Given the description of an element on the screen output the (x, y) to click on. 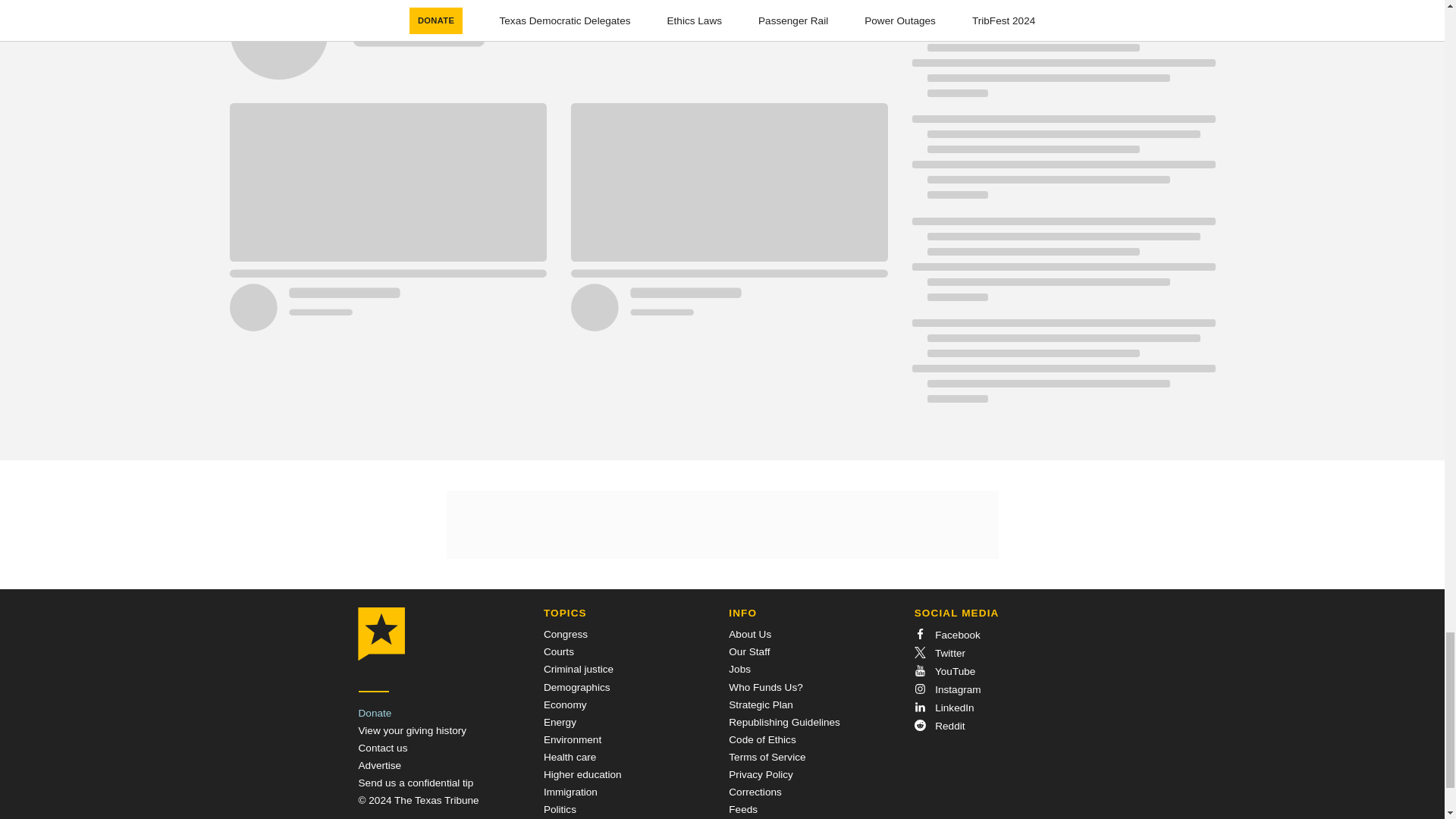
Advertise (379, 765)
Corrections (755, 791)
Republishing Guidelines (784, 722)
Loading indicator (1062, 368)
Loading indicator (1062, 266)
Feeds (743, 808)
Contact us (382, 747)
Loading indicator (557, 49)
Who Funds Us? (765, 686)
Send a Tip (415, 782)
Loading indicator (1062, 4)
Loading indicator (1062, 62)
Terms of Service (767, 756)
About Us (750, 633)
Loading indicator (1062, 164)
